Given the description of an element on the screen output the (x, y) to click on. 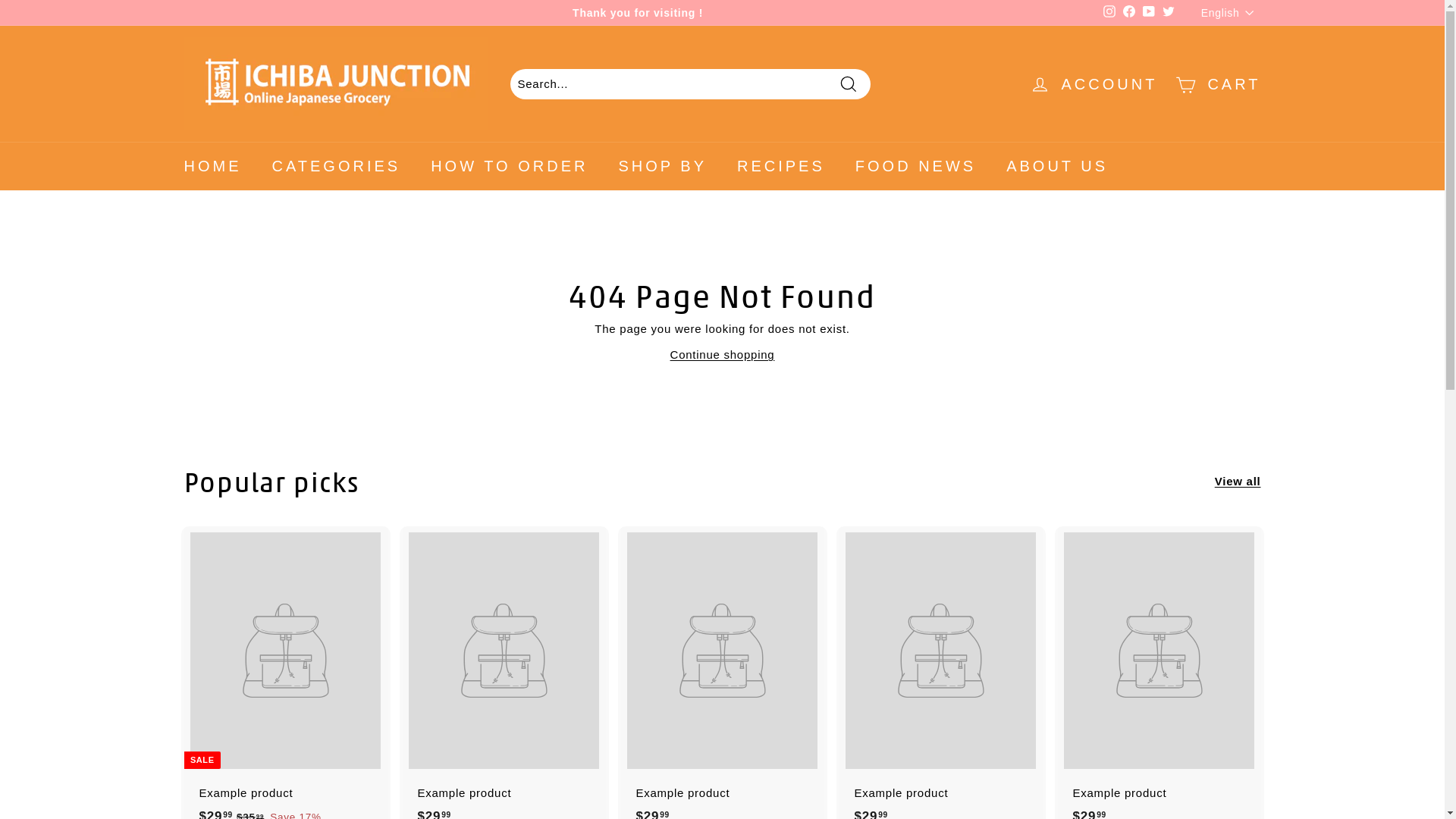
YouTube Element type: text (1148, 12)
ACCOUNT Element type: text (1093, 83)
English Element type: text (1231, 12)
HOME Element type: text (212, 165)
Facebook Element type: text (1129, 12)
Skip to content Element type: text (0, 0)
View all Element type: text (1237, 481)
Twitter Element type: text (1168, 12)
FOOD NEWS Element type: text (915, 165)
RECIPES Element type: text (780, 165)
SHOP BY Element type: text (661, 165)
ABOUT US Element type: text (1057, 165)
Instagram Element type: text (1109, 12)
HOW TO ORDER Element type: text (508, 165)
CATEGORIES Element type: text (335, 165)
Continue shopping Element type: text (722, 354)
